Given the description of an element on the screen output the (x, y) to click on. 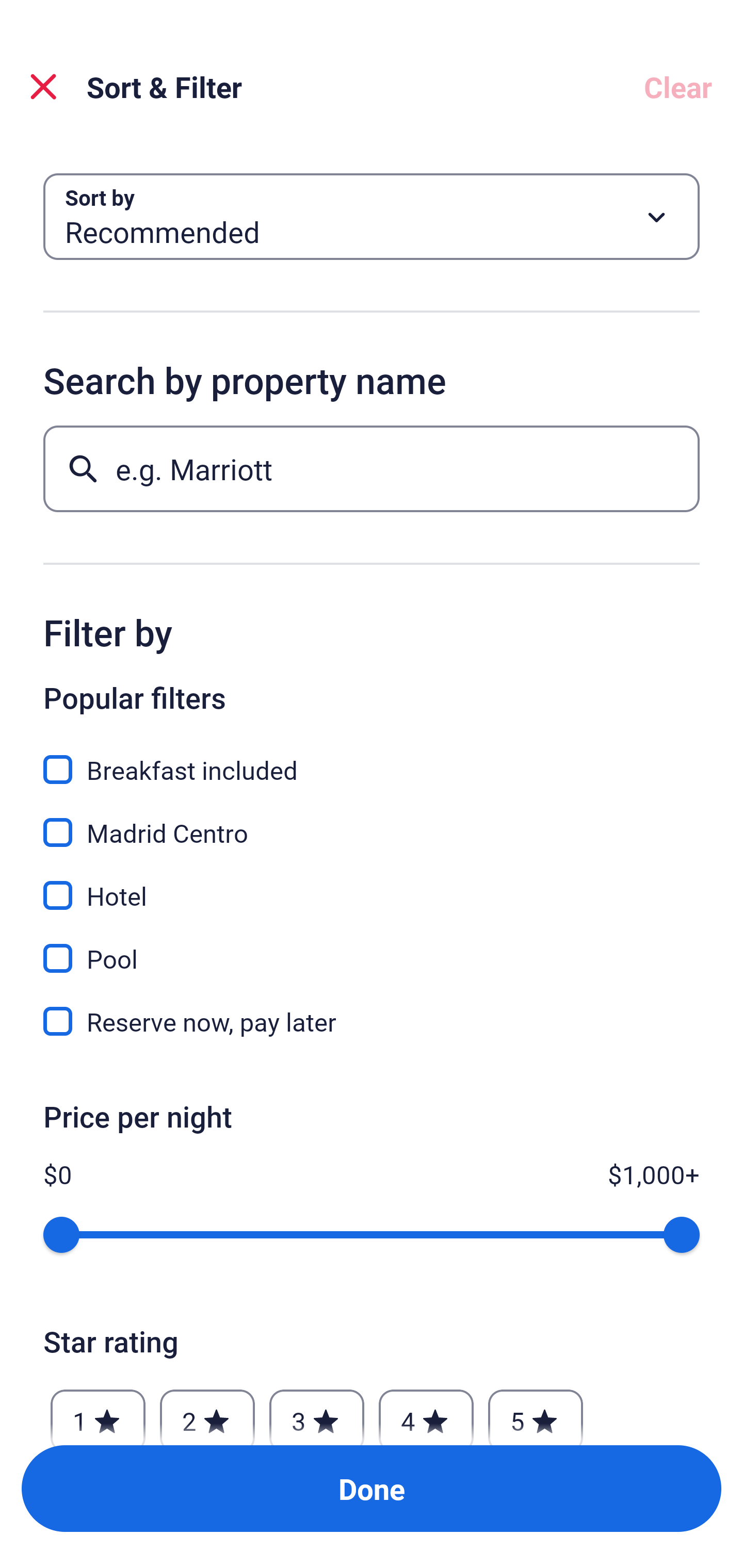
Close Sort and Filter (43, 86)
Clear (677, 86)
Sort by Button Recommended (371, 217)
e.g. Marriott Button (371, 468)
Breakfast included, Breakfast included (371, 757)
Madrid Centro, Madrid Centro (371, 821)
Hotel, Hotel (371, 883)
Pool, Pool (371, 946)
Reserve now, pay later, Reserve now, pay later (371, 1021)
1 (97, 1411)
2 (206, 1411)
3 (316, 1411)
4 (426, 1411)
5 (535, 1411)
Apply and close Sort and Filter Done (371, 1488)
